Given the description of an element on the screen output the (x, y) to click on. 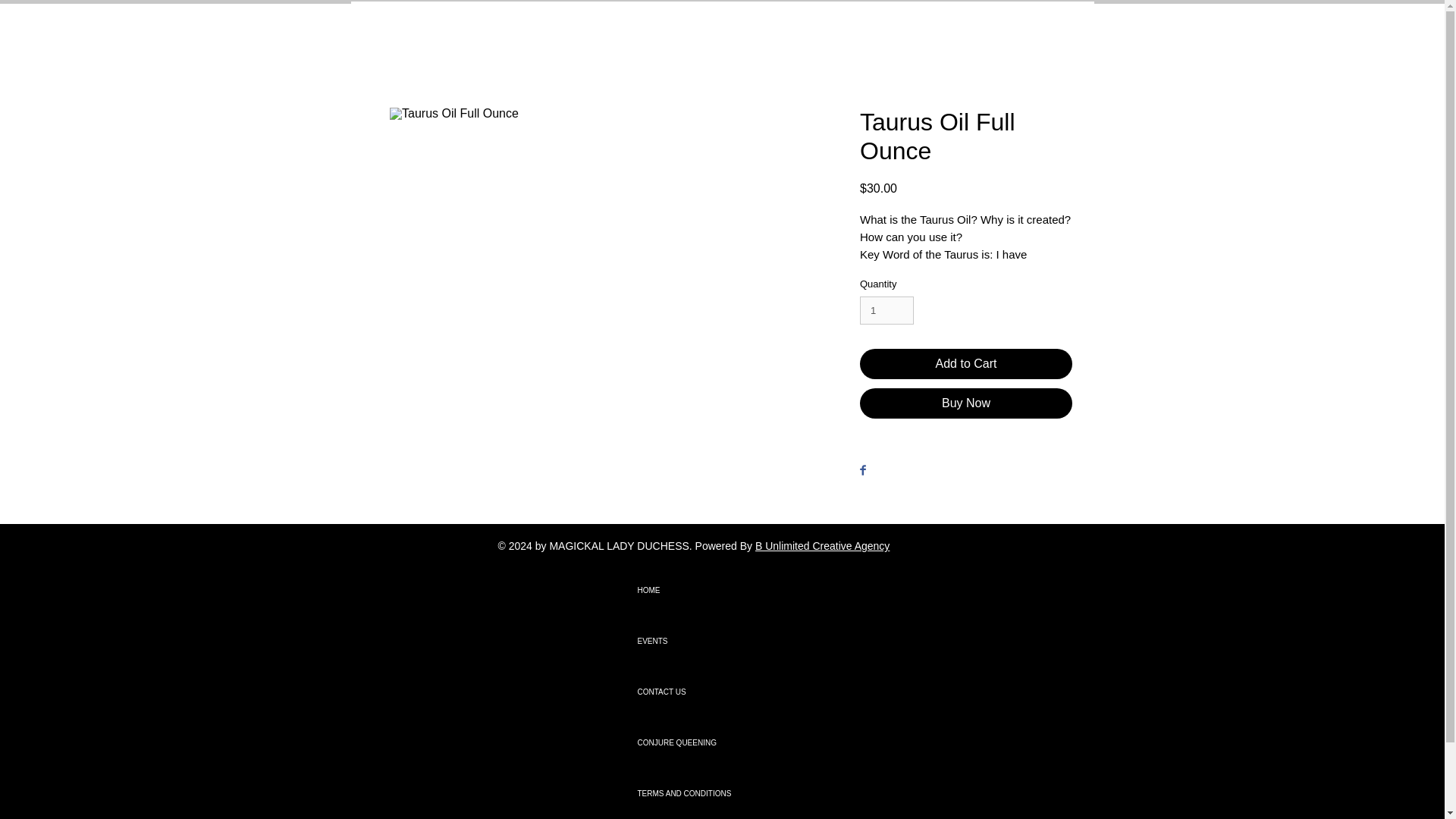
HOME (690, 590)
CONTACT US (690, 691)
1 (887, 310)
CONJURE QUEENING (690, 742)
B Unlimited Creative Agency (822, 545)
Add to Cart (965, 363)
EVENTS (690, 640)
TERMS AND CONDITIONS (690, 793)
Buy Now (965, 403)
